Given the description of an element on the screen output the (x, y) to click on. 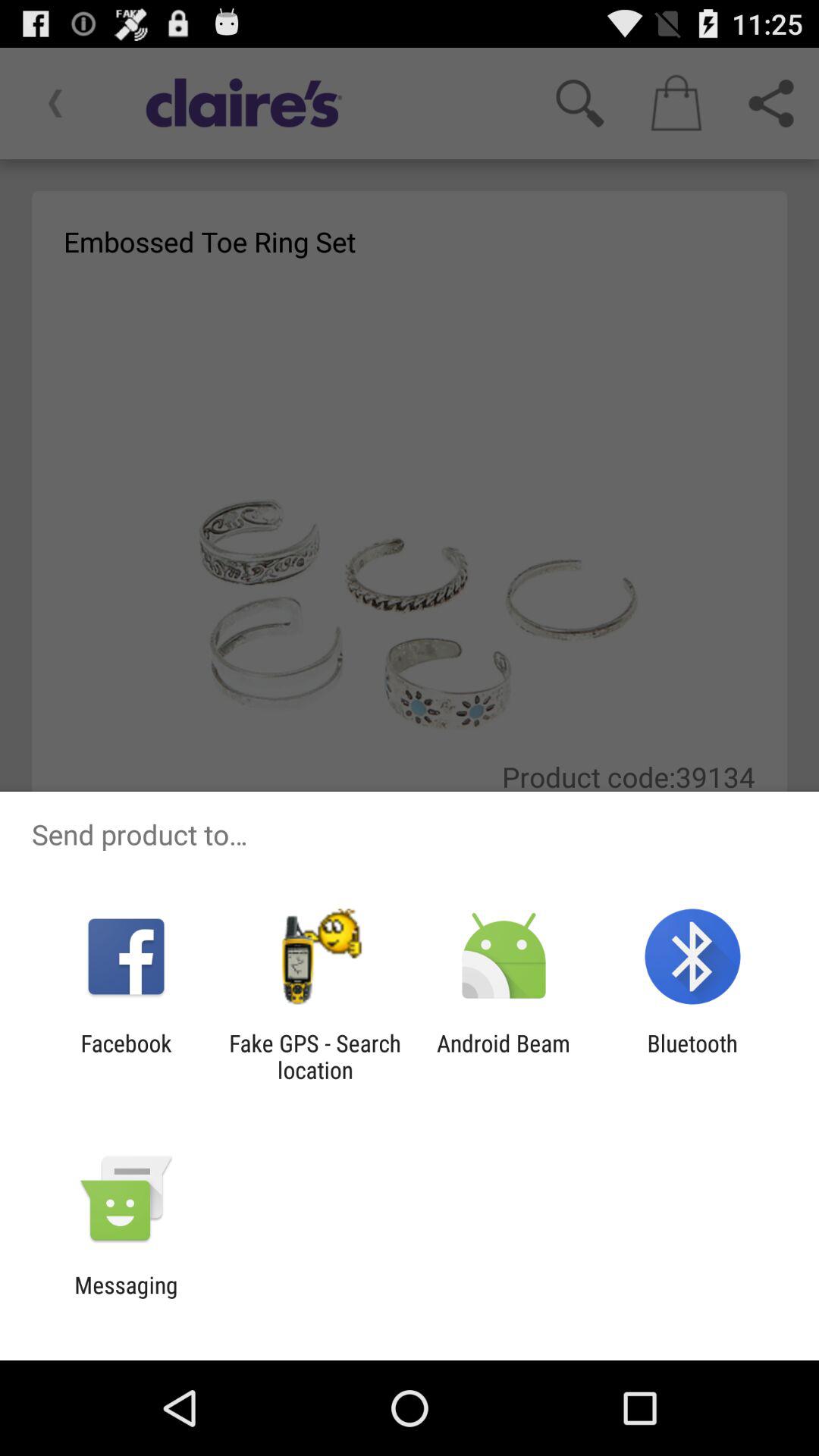
tap the item next to android beam (314, 1056)
